Given the description of an element on the screen output the (x, y) to click on. 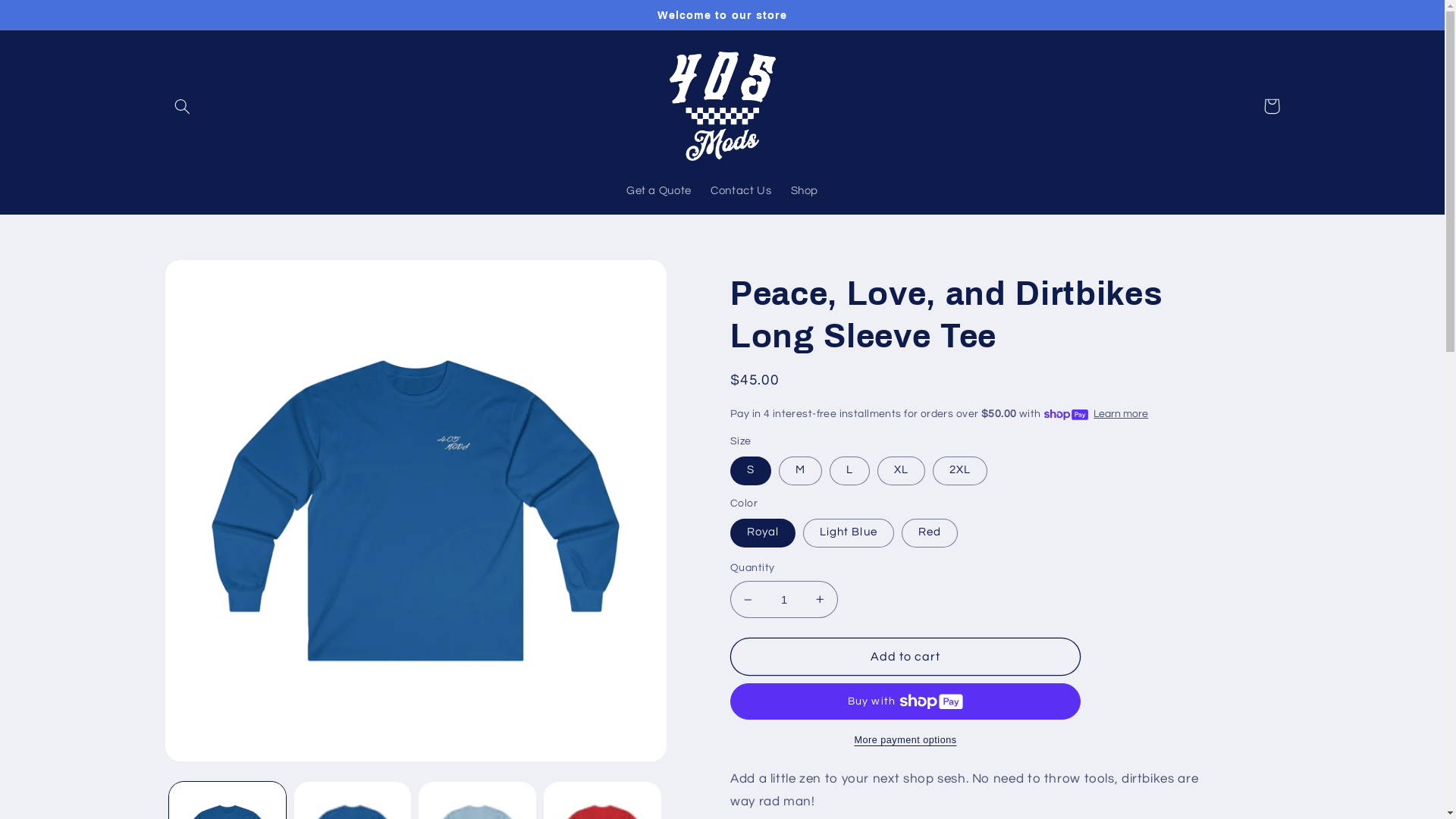
Shop Element type: text (804, 191)
Get a Quote Element type: text (658, 191)
Add to cart Element type: text (905, 655)
Contact Us Element type: text (740, 191)
More payment options Element type: text (905, 740)
Skip to product information Element type: text (211, 277)
Cart Element type: text (1271, 105)
